Given the description of an element on the screen output the (x, y) to click on. 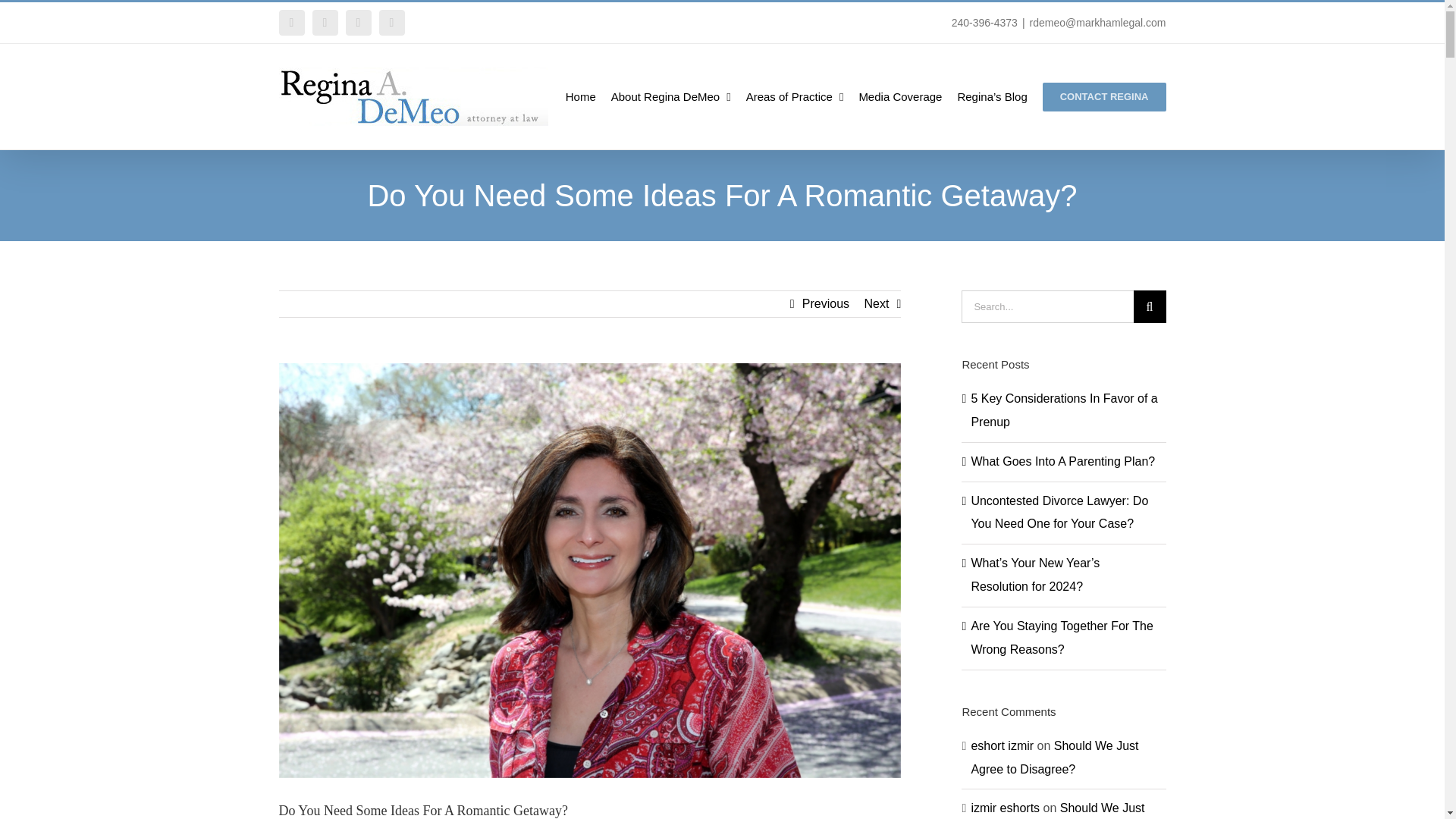
Facebook (291, 22)
LinkedIn (325, 22)
LinkedIn (325, 22)
Twitter (358, 22)
YouTube (391, 22)
Twitter (358, 22)
CONTACT REGINA (1104, 96)
YouTube (391, 22)
Areas of Practice (794, 96)
240-396-4373 (984, 22)
